Given the description of an element on the screen output the (x, y) to click on. 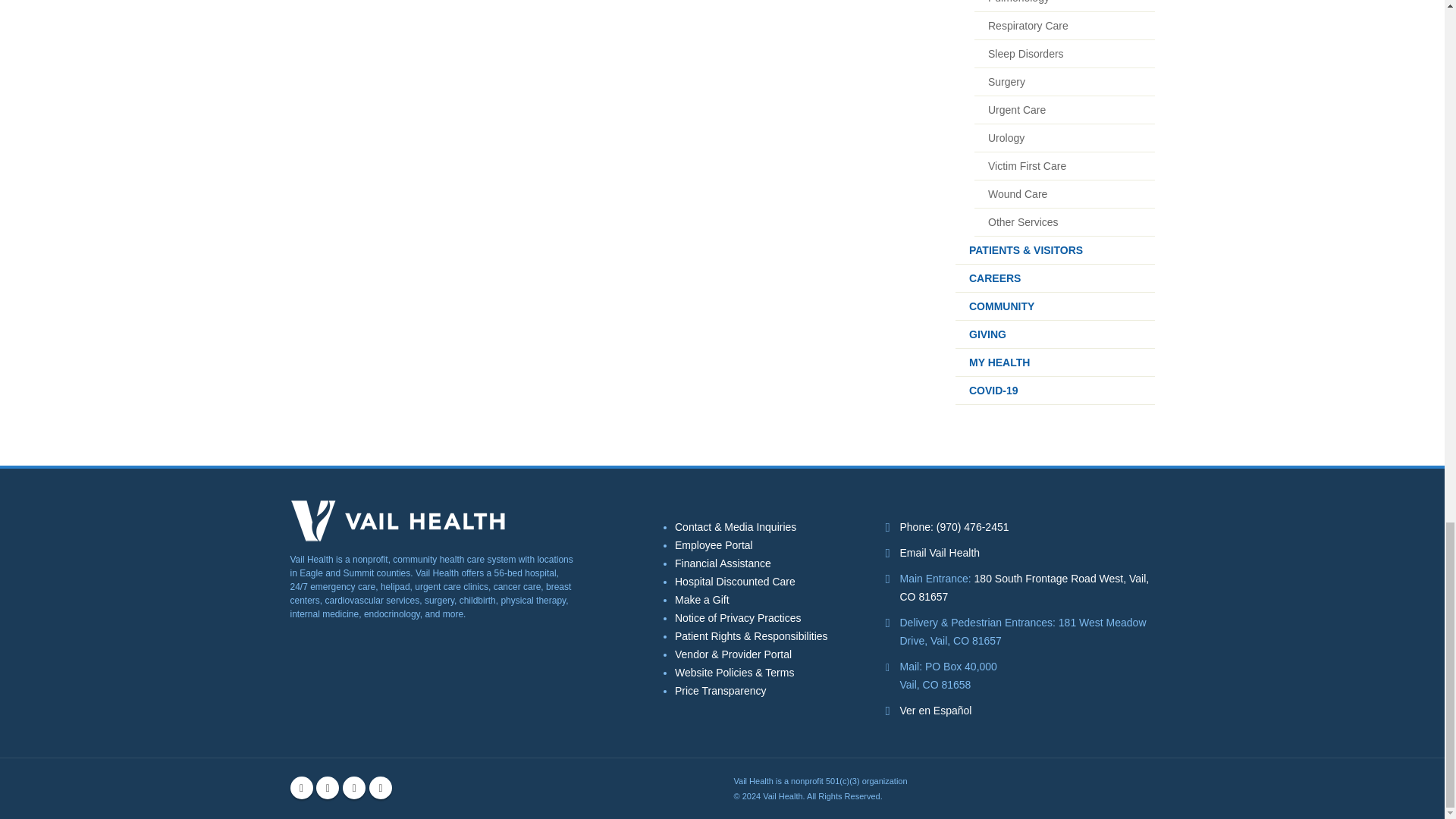
You Tube (353, 787)
LinkedIn (380, 787)
Facebook (301, 787)
Instagram (327, 787)
